Given the description of an element on the screen output the (x, y) to click on. 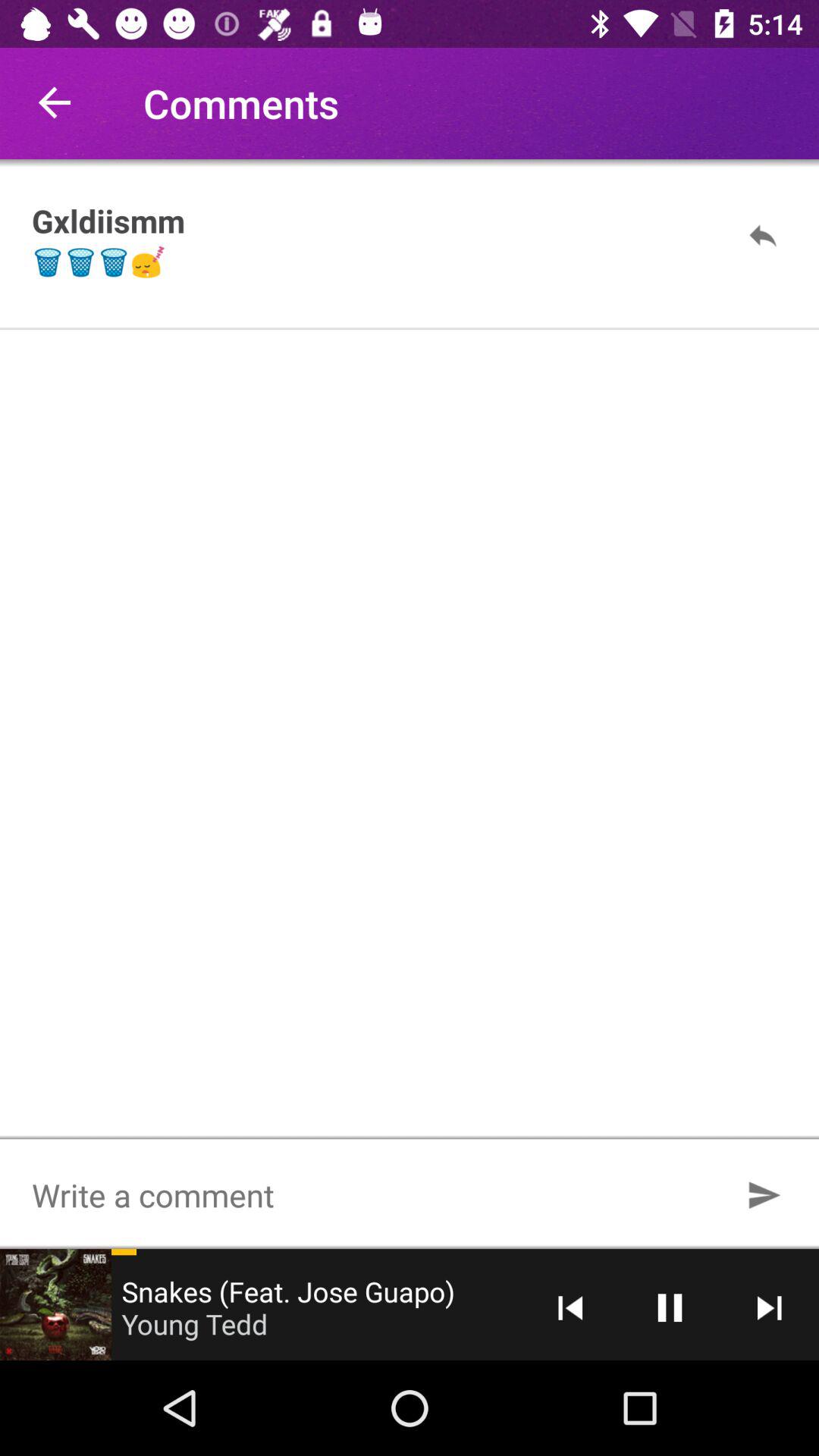
open app next to comments icon (55, 103)
